Given the description of an element on the screen output the (x, y) to click on. 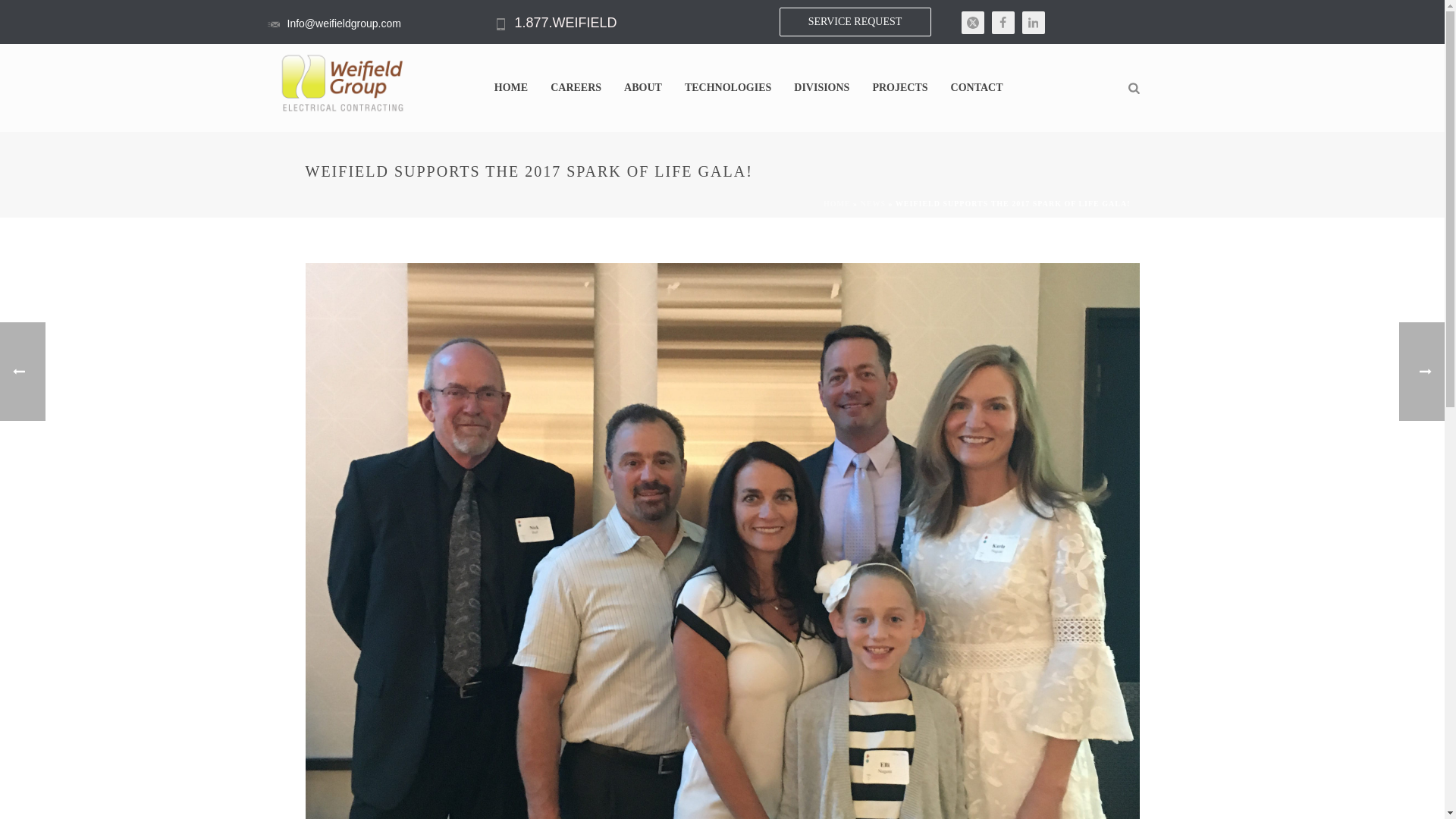
TECHNOLOGIES (727, 87)
LEEDing the way in electrical construction (343, 82)
SERVICE REQUEST (854, 21)
TECHNOLOGIES (727, 87)
1.877.WEIFIELD (564, 22)
